Given the description of an element on the screen output the (x, y) to click on. 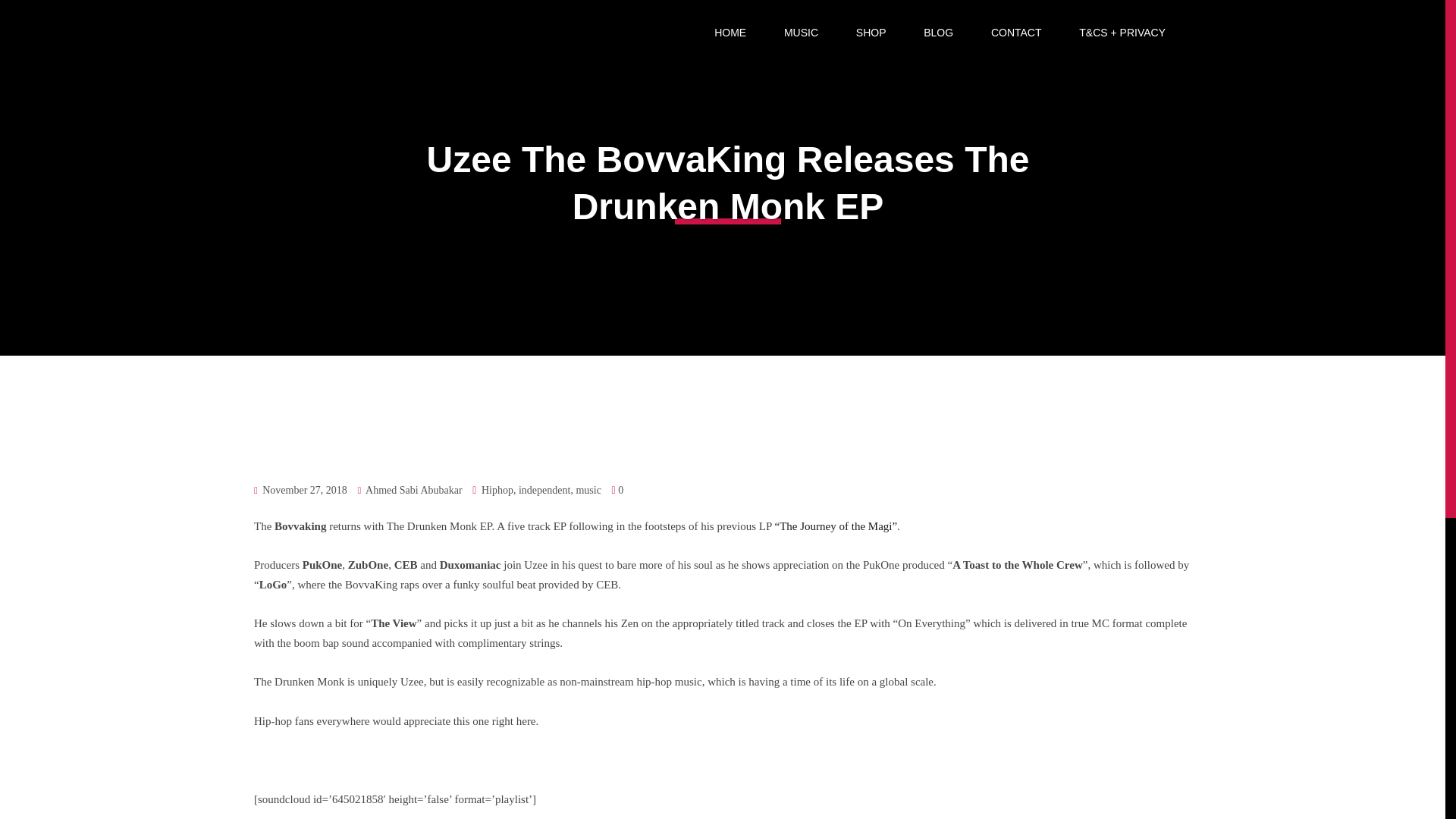
MUSIC (800, 33)
independent (544, 490)
Hiphop (497, 490)
SHOP (871, 33)
music (587, 490)
CONTACT (1015, 33)
HOME (730, 33)
BLOG (938, 33)
